Given the description of an element on the screen output the (x, y) to click on. 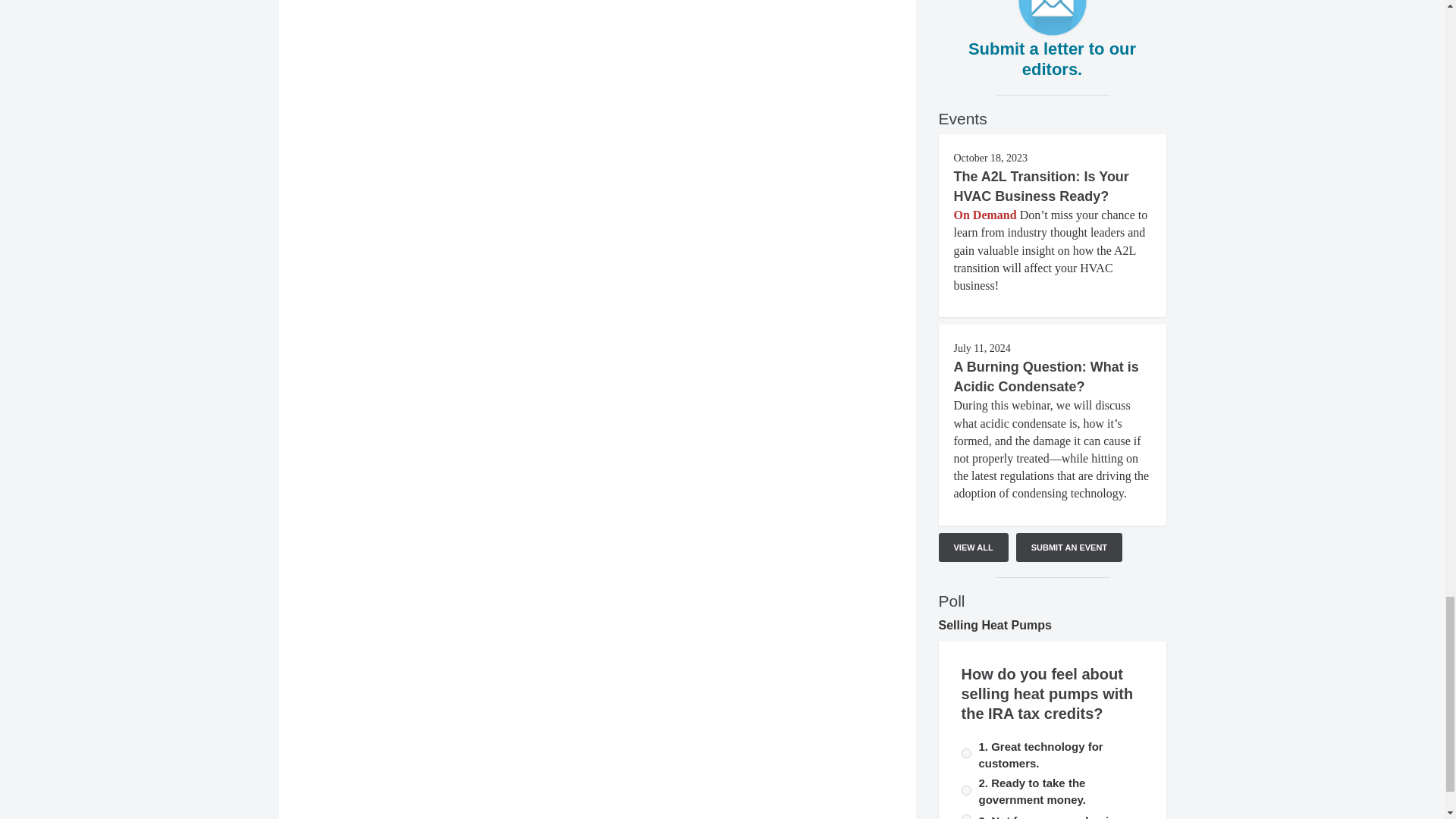
604 (965, 816)
606 (965, 790)
605 (965, 753)
A Burning Question: What is Acidic Condensate? (1045, 376)
The A2L Transition: Is Your HVAC Business Ready? (1041, 185)
